Given the description of an element on the screen output the (x, y) to click on. 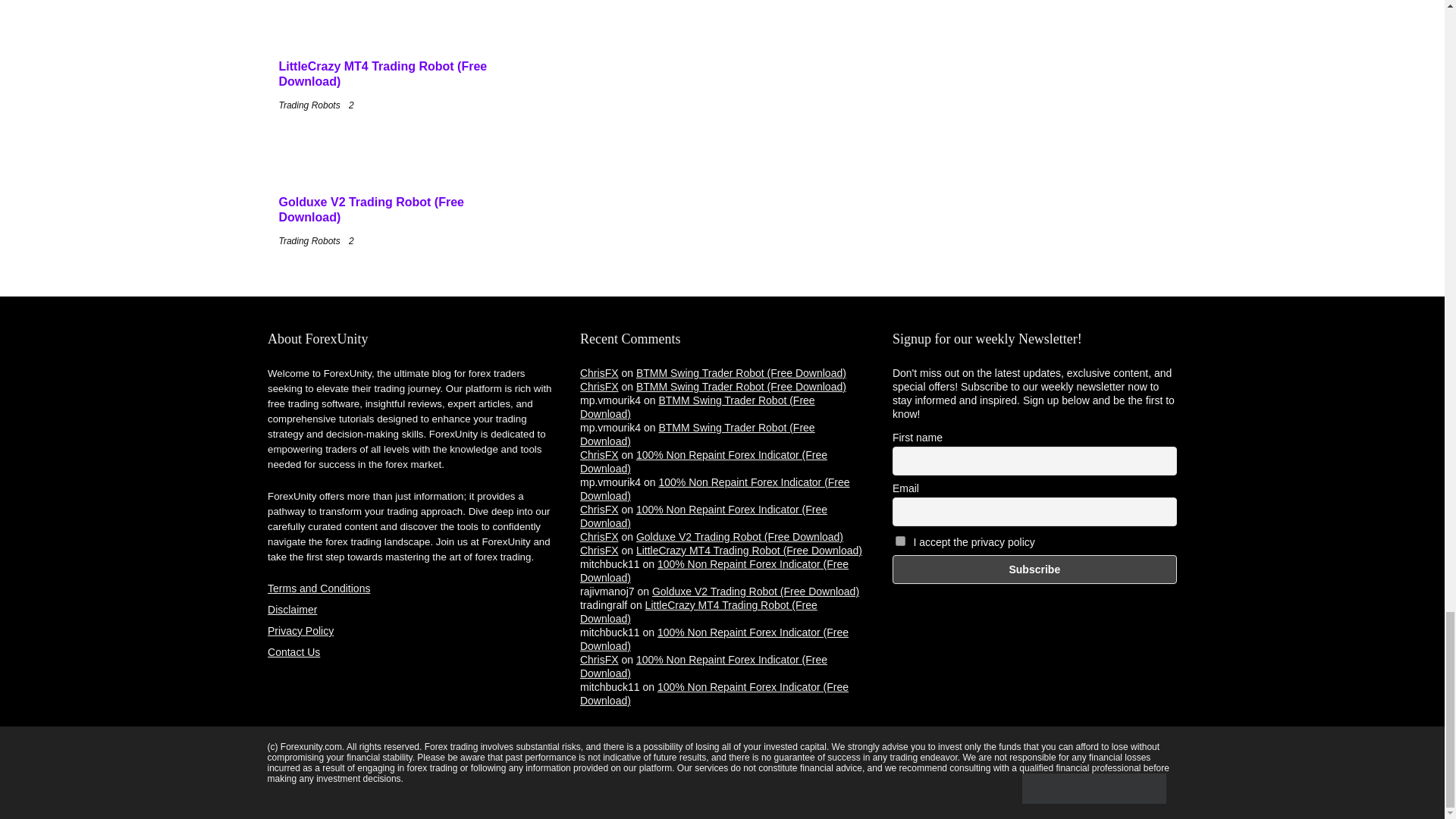
Subscribe (1034, 569)
on (900, 541)
